Given the description of an element on the screen output the (x, y) to click on. 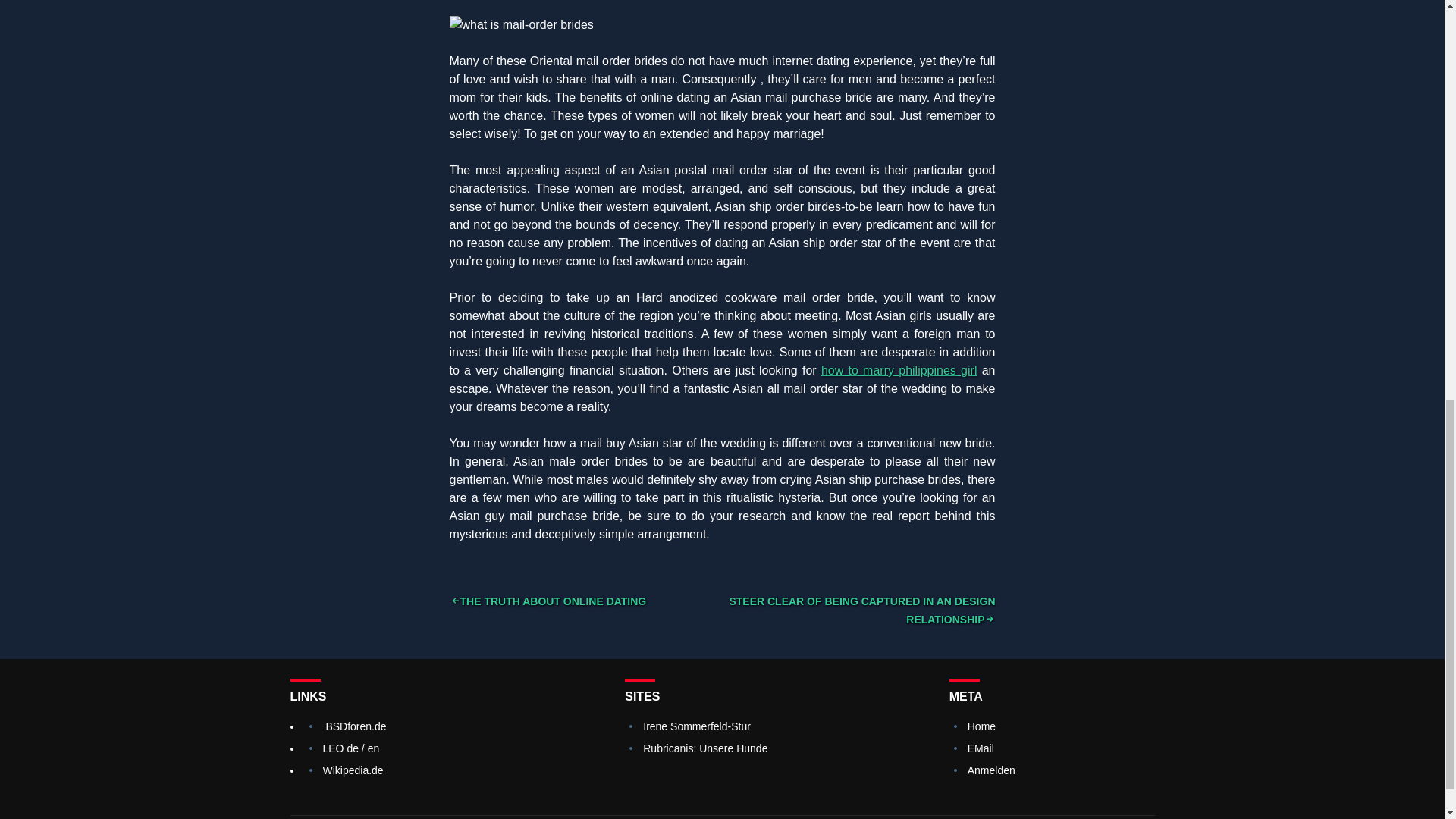
Wikipedia.de (353, 770)
BSDforen.de (354, 726)
Anmelden (991, 770)
Irene Sommerfeld-Stur (697, 726)
THE TRUTH ABOUT ONLINE DATING (547, 601)
STEER CLEAR OF BEING CAPTURED IN AN DESIGN RELATIONSHIP (861, 610)
Home (981, 726)
EMail (981, 748)
Rubricanis: Unsere Hunde (705, 748)
how to marry philippines girl (898, 369)
